Given the description of an element on the screen output the (x, y) to click on. 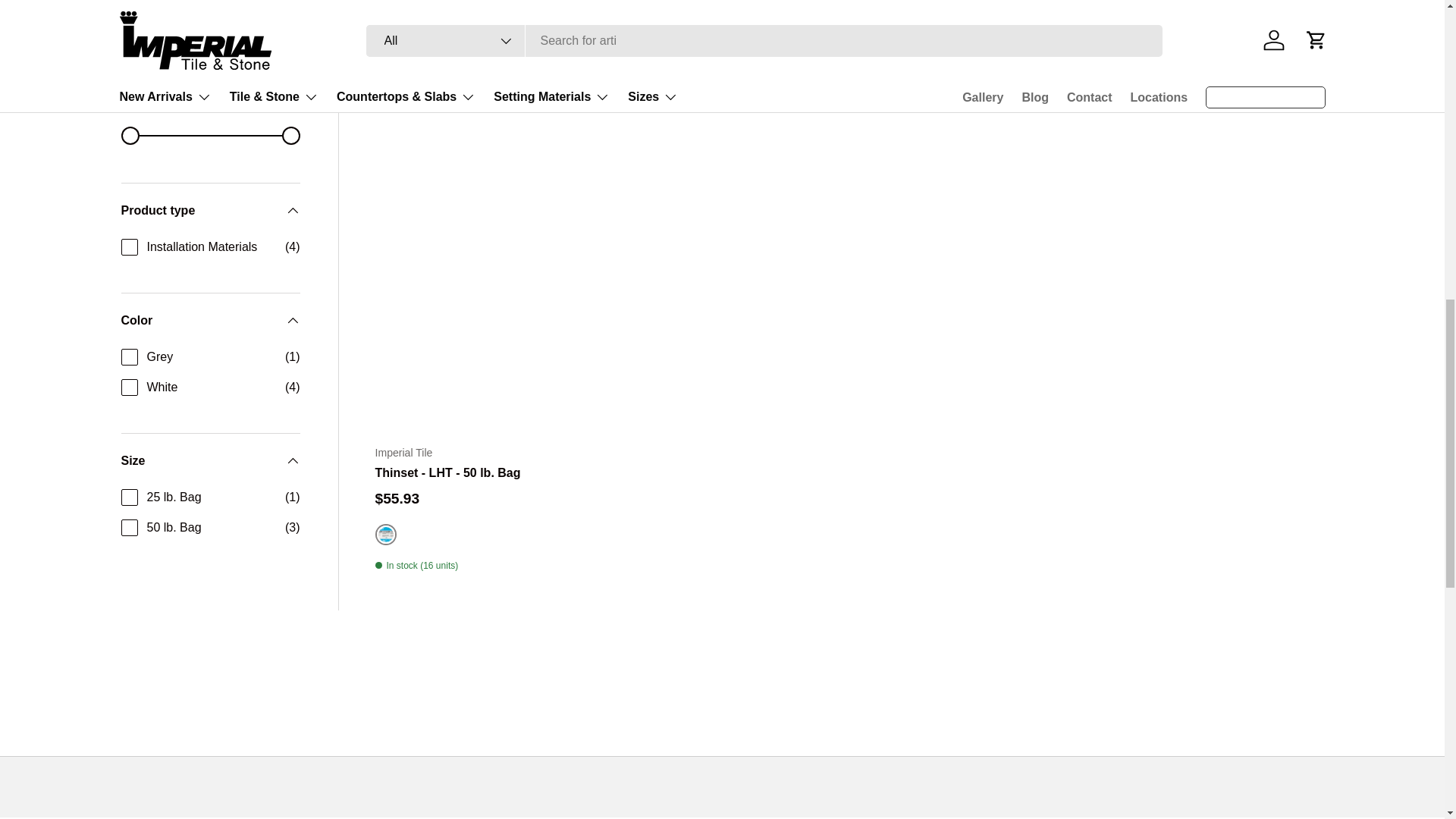
White (384, 44)
Grey (735, 44)
White (384, 534)
White (710, 44)
White (1034, 44)
